Given the description of an element on the screen output the (x, y) to click on. 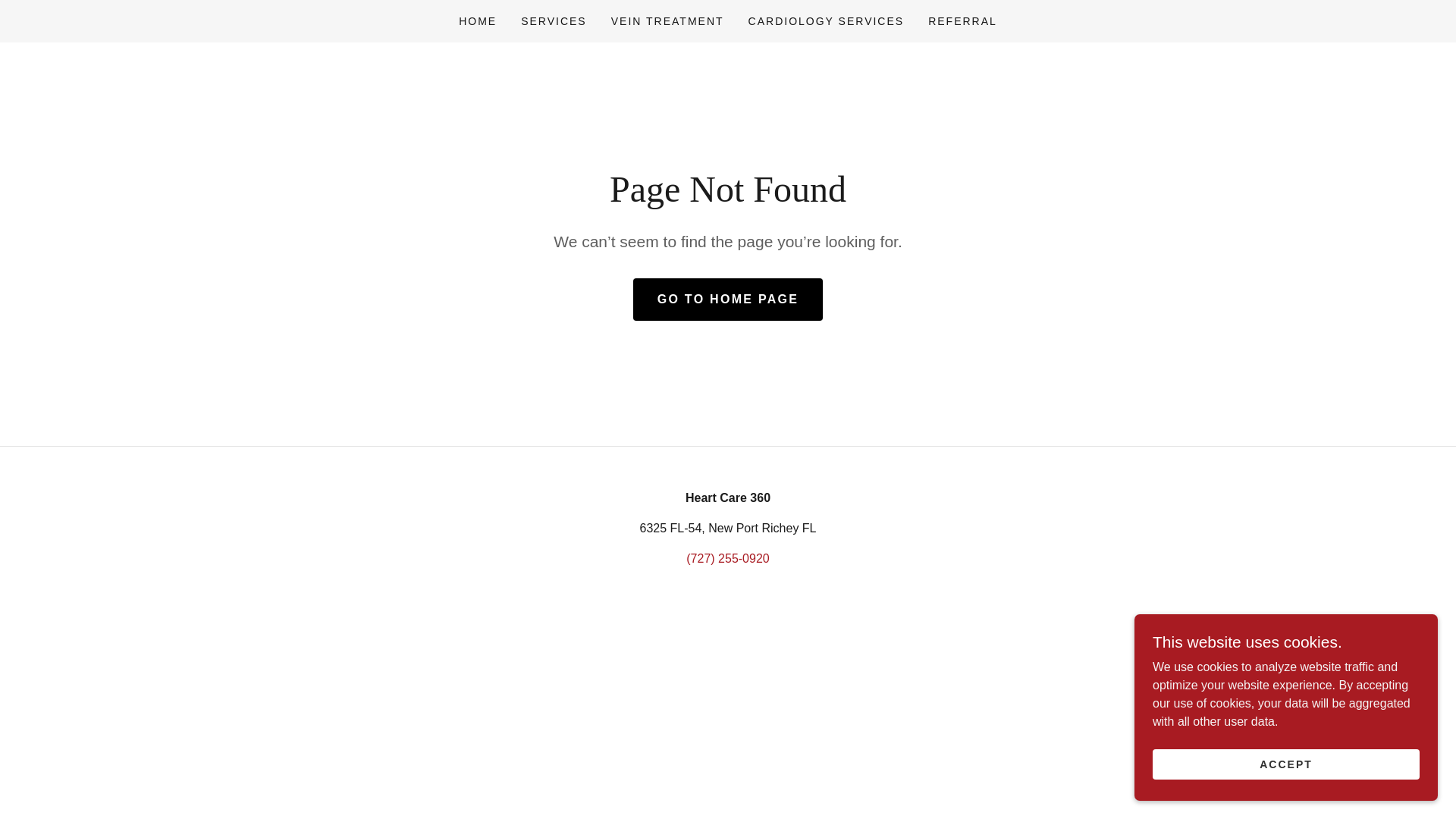
REFERRAL (962, 21)
GO TO HOME PAGE (728, 299)
HOME (477, 21)
VEIN TREATMENT (668, 21)
SERVICES (553, 21)
ACCEPT (1286, 764)
CARDIOLOGY SERVICES (826, 21)
